Given the description of an element on the screen output the (x, y) to click on. 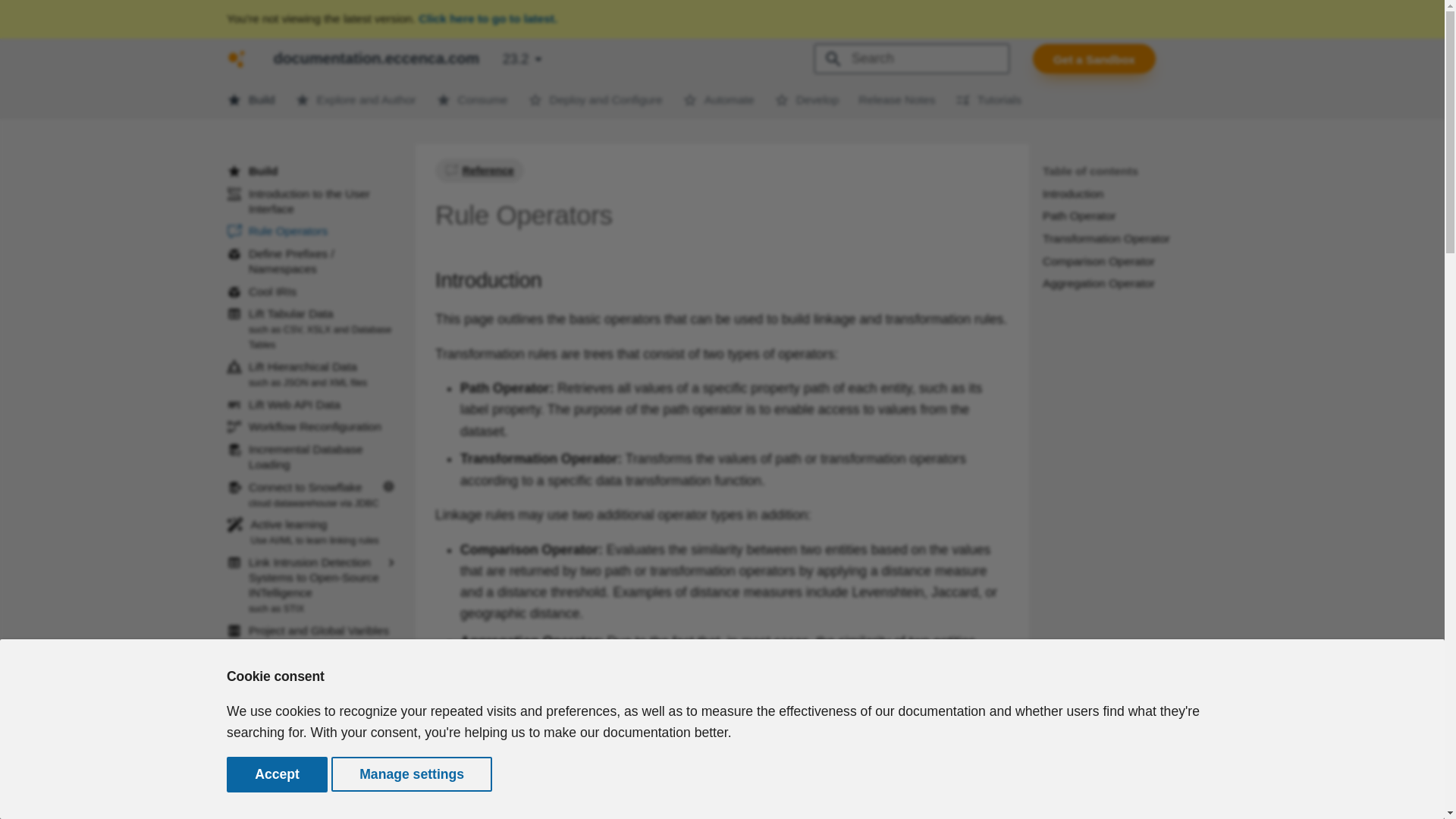
Consume (471, 99)
Get a Sandbox (1094, 59)
Introduction to the User Interface (312, 201)
Automate (312, 329)
Deploy and Configure (718, 99)
documentation.eccenca.com (594, 99)
Workflow Reconfiguration (236, 58)
Release Notes (312, 426)
